Given the description of an element on the screen output the (x, y) to click on. 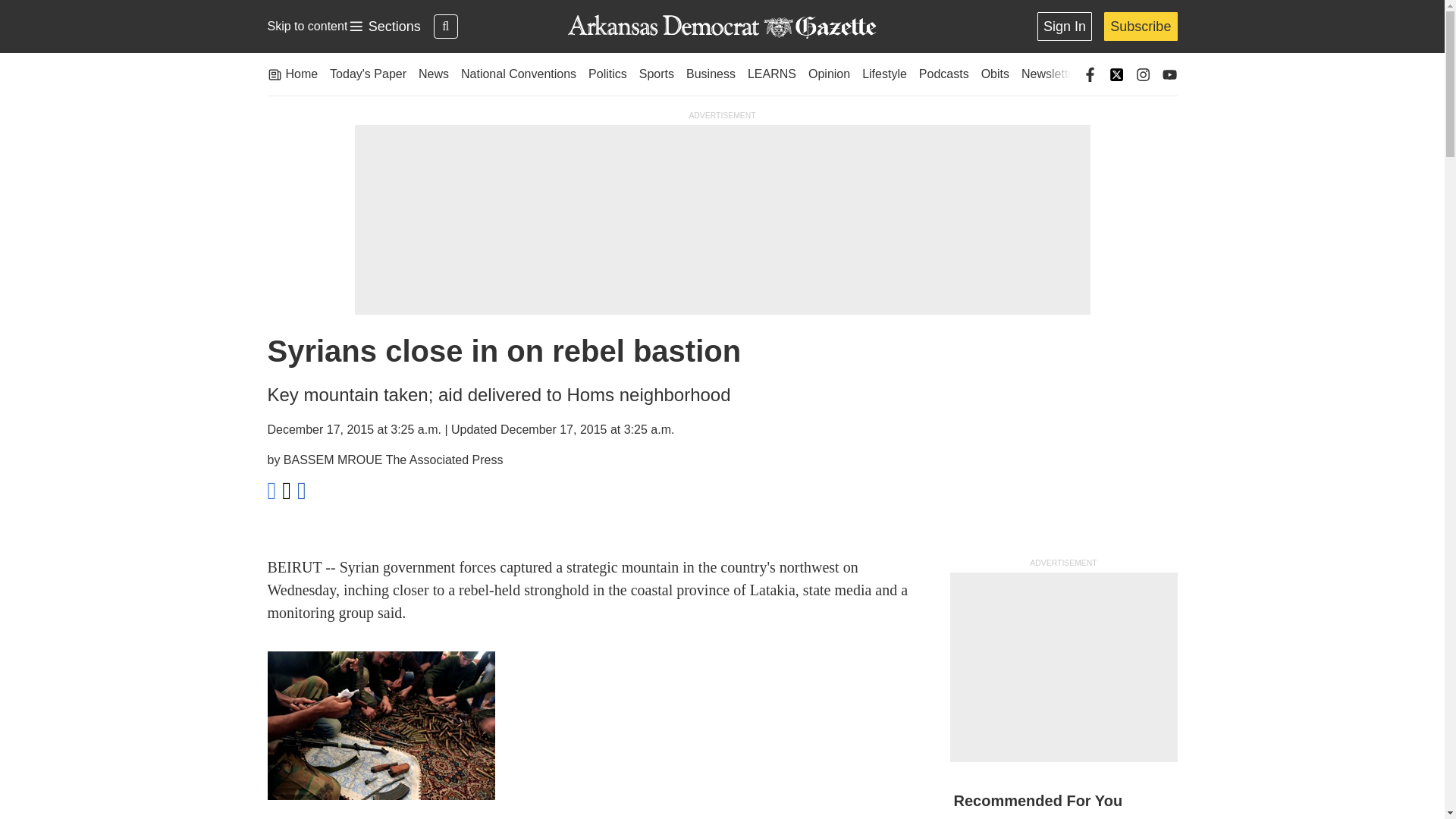
Arkansas Democrat Gazette (721, 26)
Skip to content (306, 26)
3rd party ad content (383, 26)
